Given the description of an element on the screen output the (x, y) to click on. 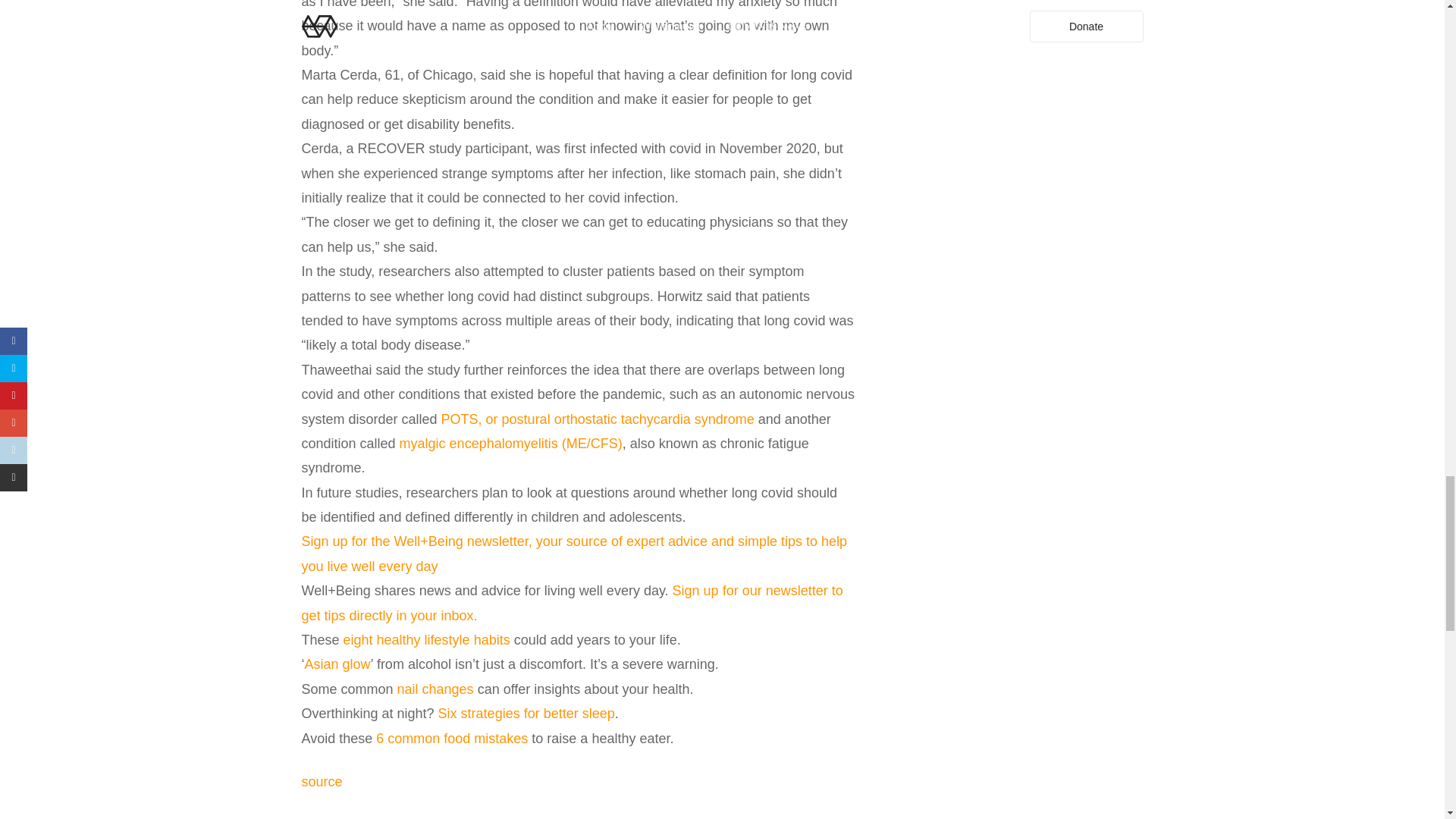
POTS, or postural orthostatic tachycardia syndrome (597, 418)
6 common food mistakes (451, 738)
eight healthy lifestyle habits (427, 639)
Six strategies for better sleep (526, 713)
source (321, 781)
nail changes (435, 688)
Asian glow (337, 663)
